Given the description of an element on the screen output the (x, y) to click on. 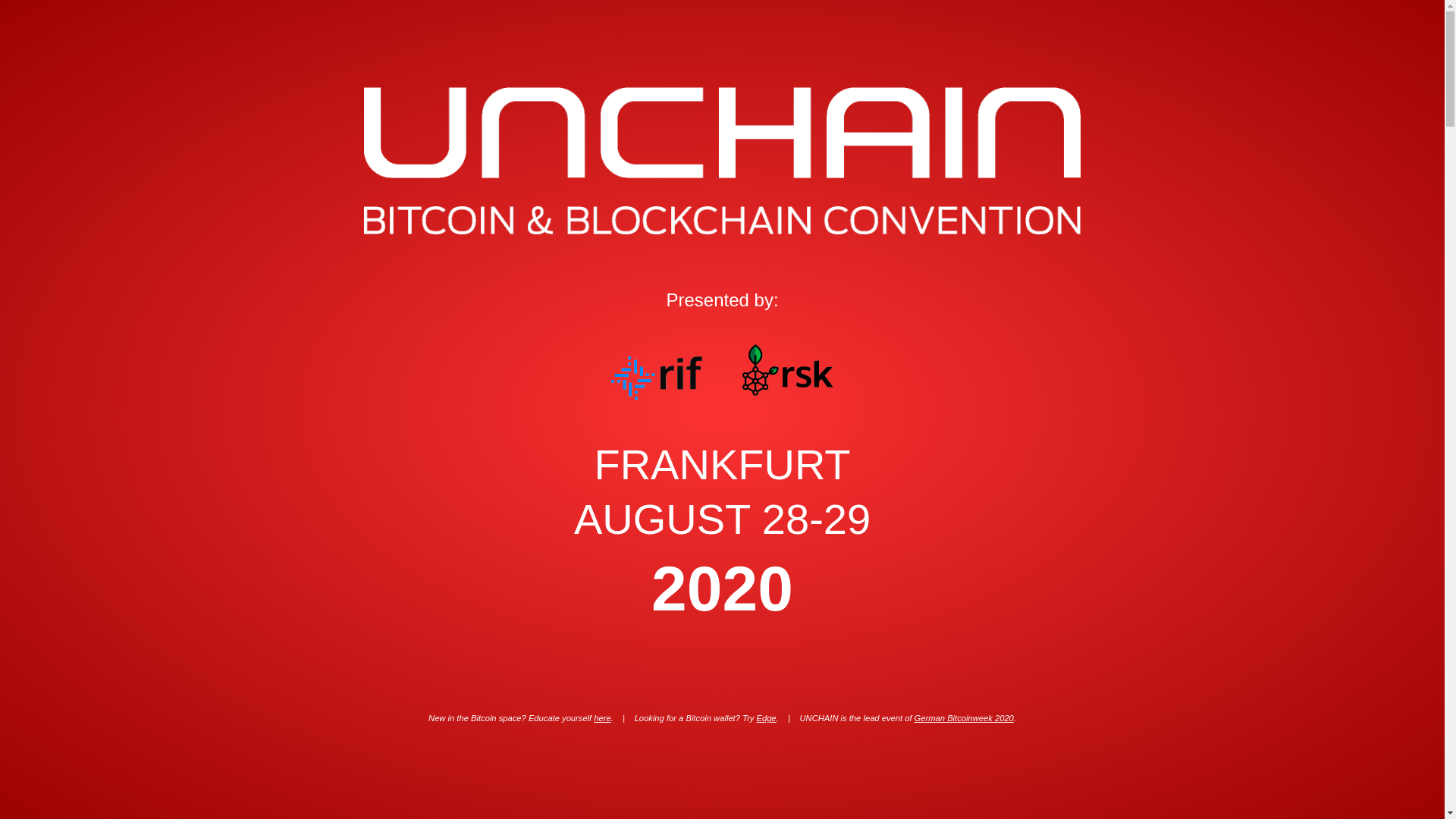
German Bitcoinweek 2020 (963, 717)
Edge (765, 717)
here (602, 717)
